Given the description of an element on the screen output the (x, y) to click on. 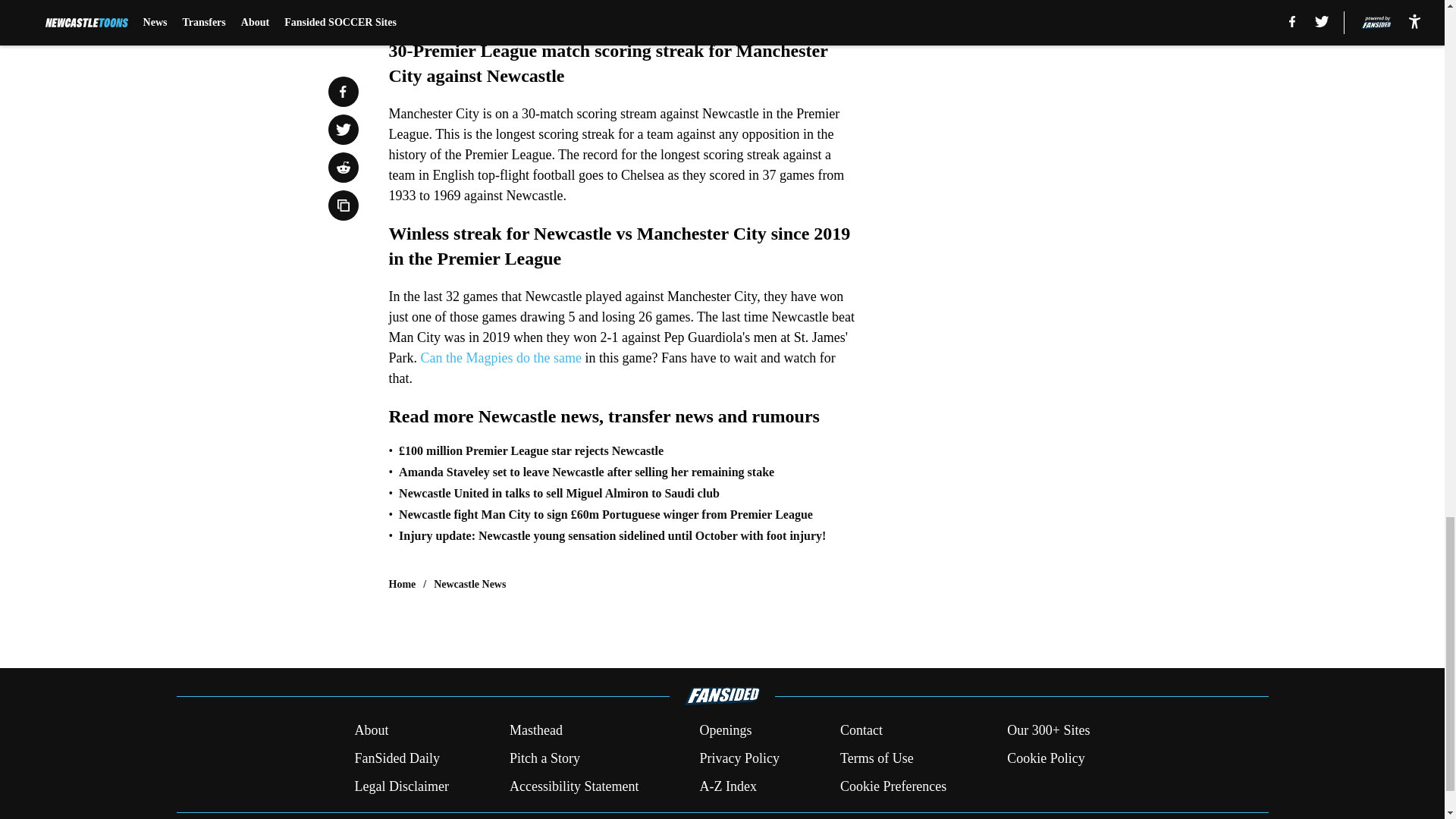
Privacy Policy (738, 758)
Masthead (535, 730)
A-Z Index (726, 786)
Home (401, 584)
Pitch a Story (544, 758)
Terms of Use (877, 758)
Cookie Policy (1045, 758)
Cookie Preferences (893, 786)
Accessibility Statement (574, 786)
Contact (861, 730)
Legal Disclaimer (400, 786)
Openings (724, 730)
